Given the description of an element on the screen output the (x, y) to click on. 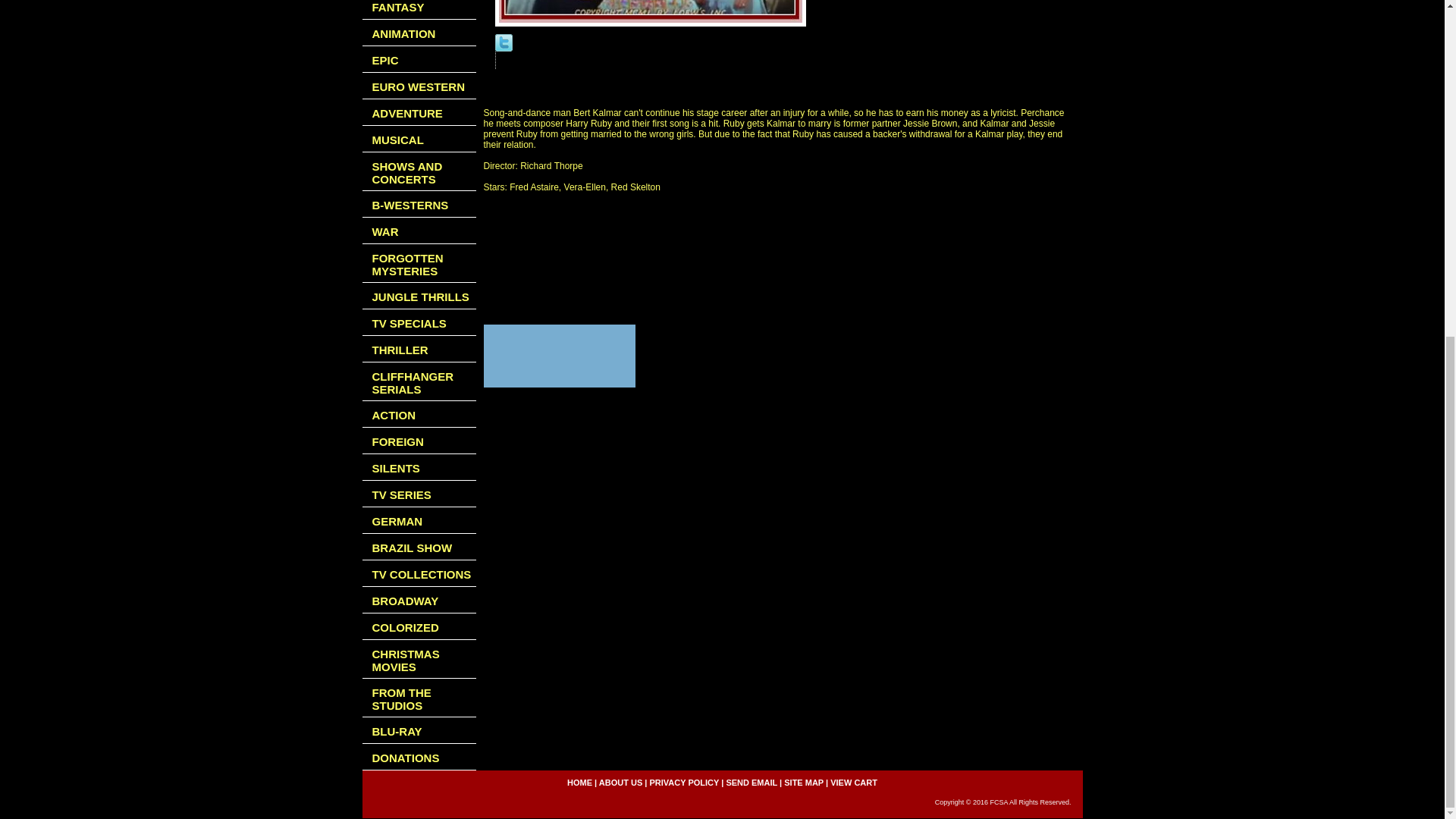
MUSICAL (419, 139)
CLIFFHANGER SERIALS (419, 381)
SHOWS AND CONCERTS (419, 171)
MUSICAL (419, 139)
ACTION (419, 414)
THRILLER (419, 348)
THREE LITTLE WORDS - 1950 - ARLENE DAHL - RARE DVD (650, 13)
FANTASY (419, 9)
EURO WESTERN (419, 85)
JUNGLE THRILLS (419, 295)
